Given the description of an element on the screen output the (x, y) to click on. 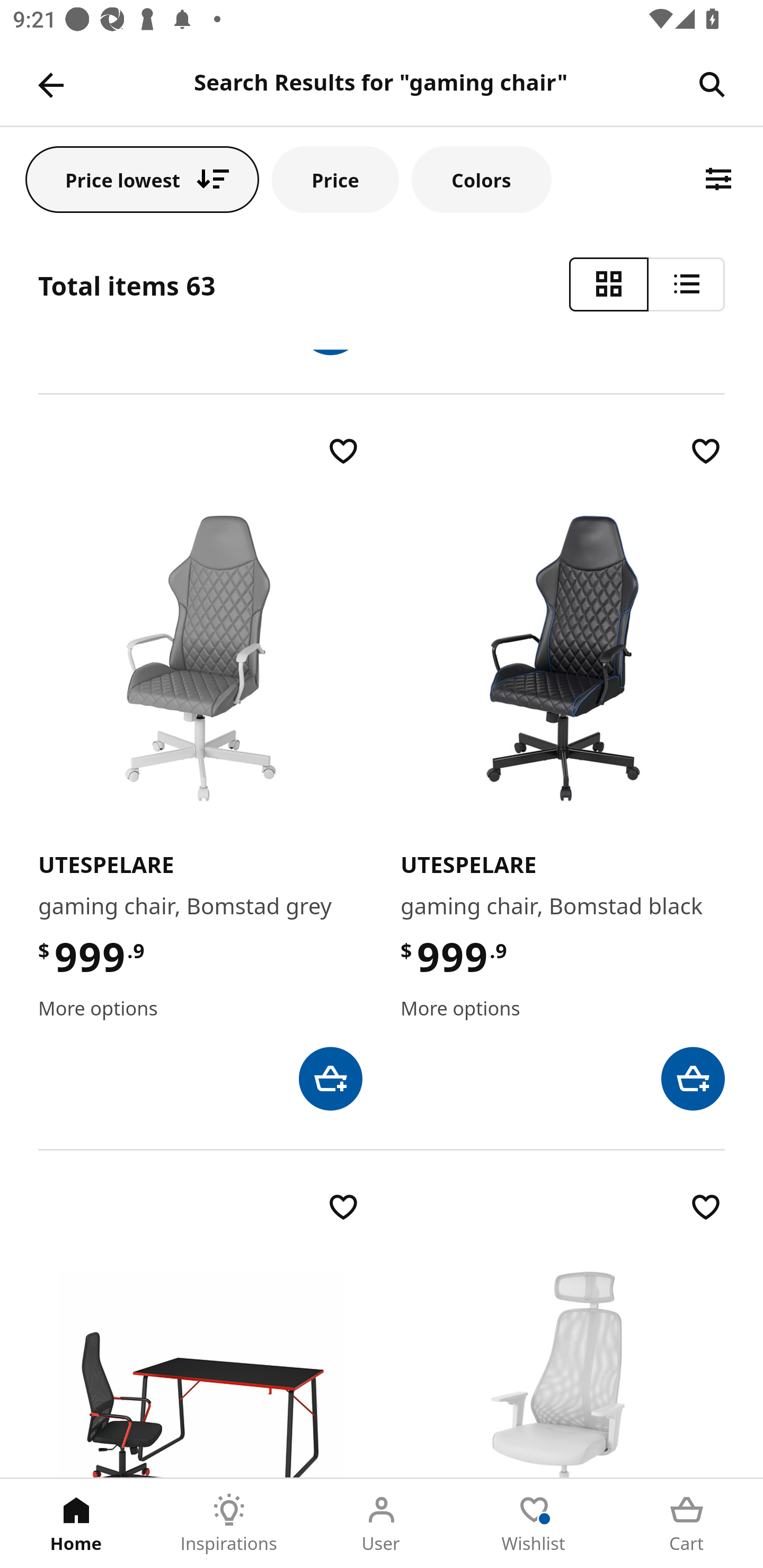
Price lowest (142, 179)
Price (335, 179)
Colors (481, 179)
Home
Tab 1 of 5 (76, 1522)
Inspirations
Tab 2 of 5 (228, 1522)
User
Tab 3 of 5 (381, 1522)
Wishlist
Tab 4 of 5 (533, 1522)
Cart
Tab 5 of 5 (686, 1522)
